Given the description of an element on the screen output the (x, y) to click on. 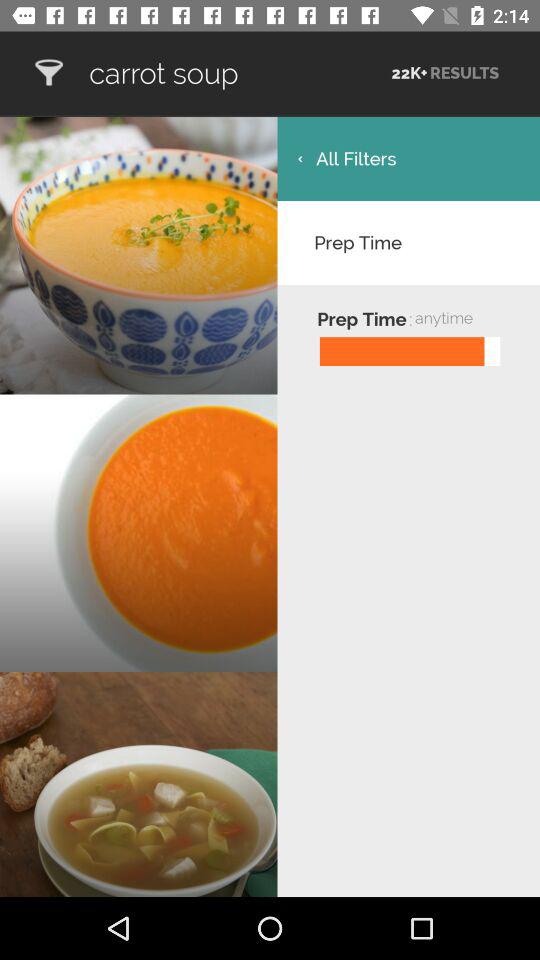
select all filters (408, 158)
